Given the description of an element on the screen output the (x, y) to click on. 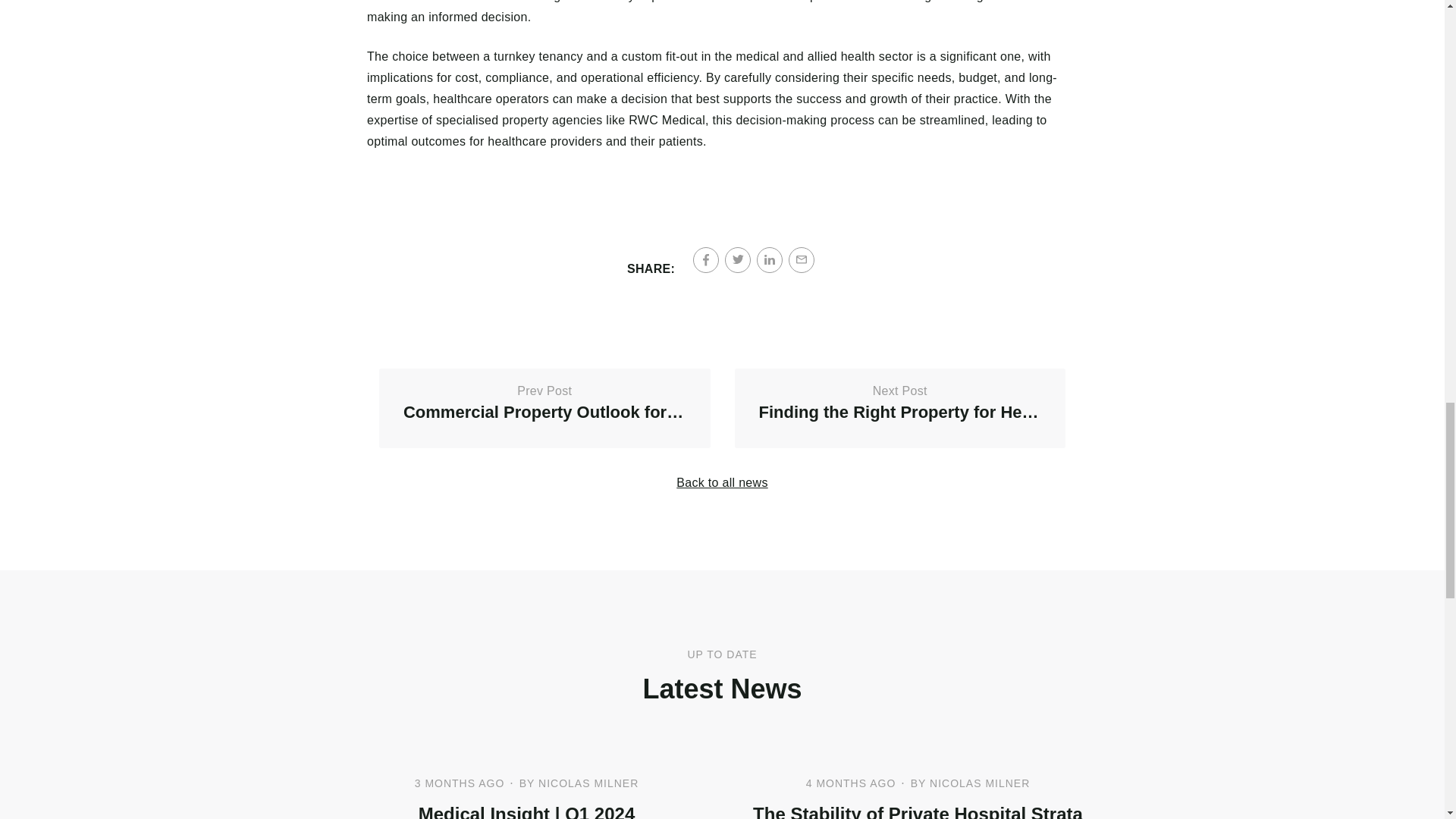
Email (801, 259)
Facebook (706, 259)
Twitter (544, 407)
Back to all news (738, 259)
LinkedIn (722, 481)
